Given the description of an element on the screen output the (x, y) to click on. 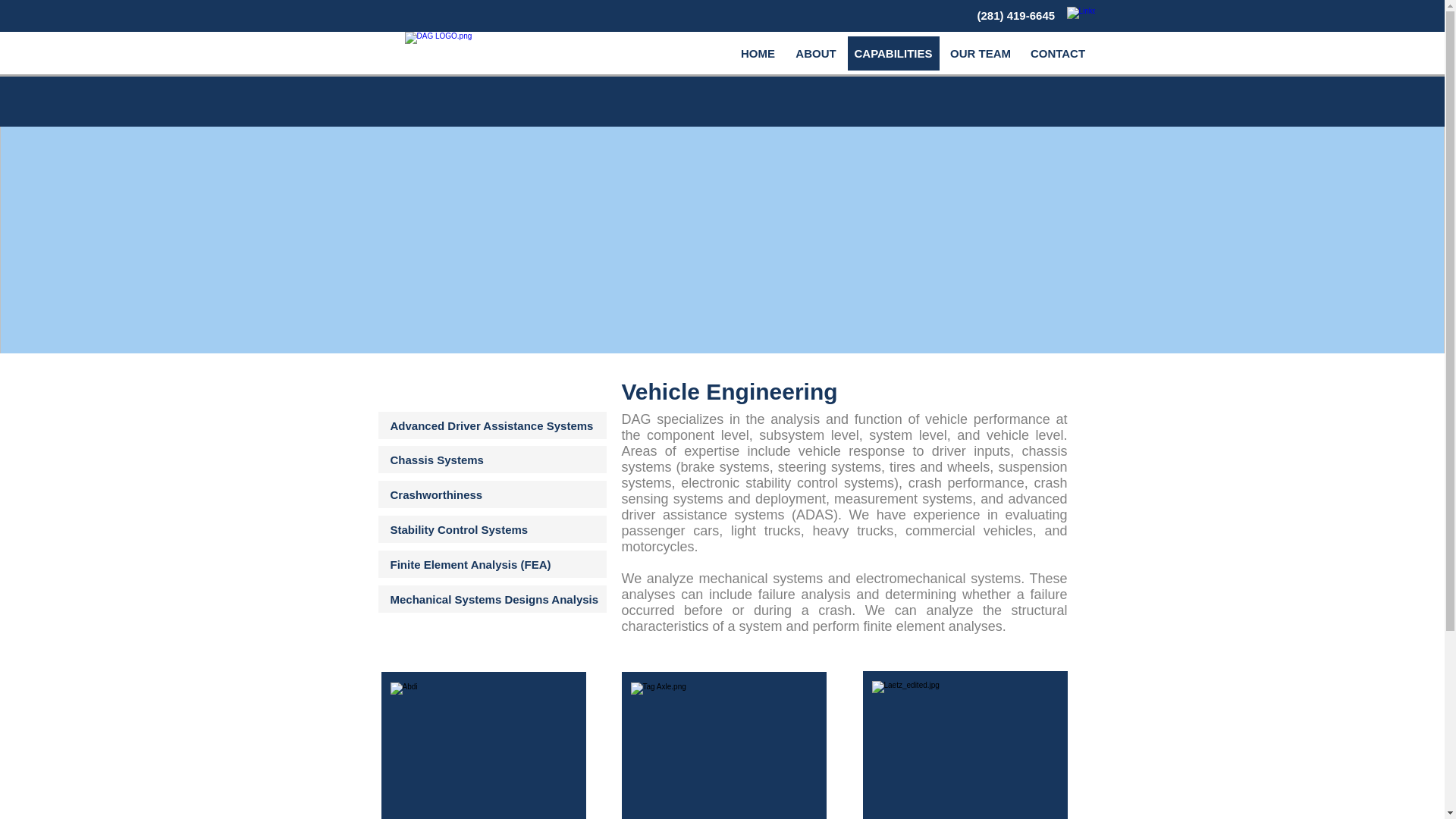
ABOUT (815, 53)
OUR TEAM (980, 53)
CONTACT (1057, 53)
HOME (758, 53)
CAPABILITIES (892, 53)
